Given the description of an element on the screen output the (x, y) to click on. 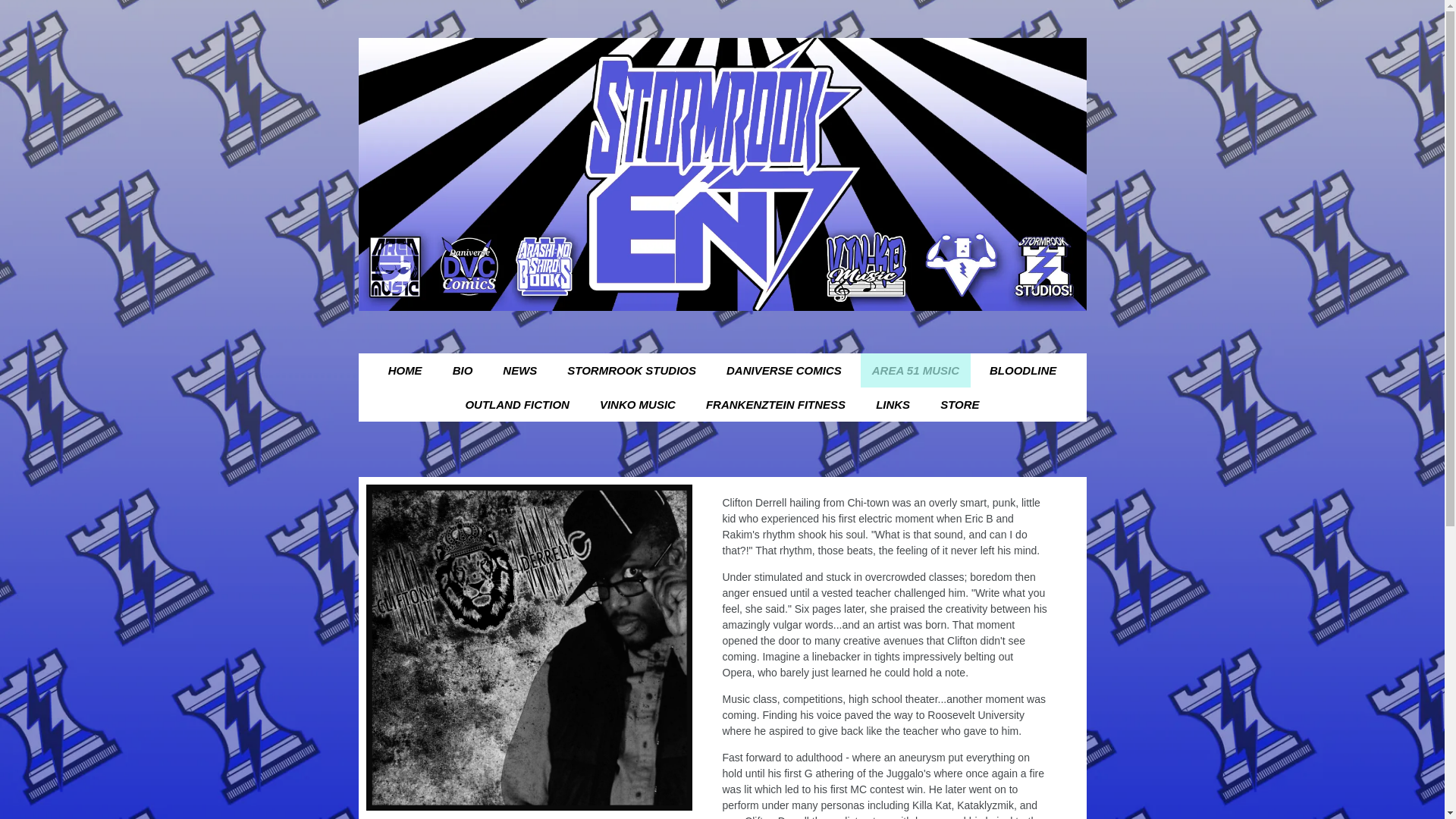
HOME (405, 369)
BIO (462, 369)
